Given the description of an element on the screen output the (x, y) to click on. 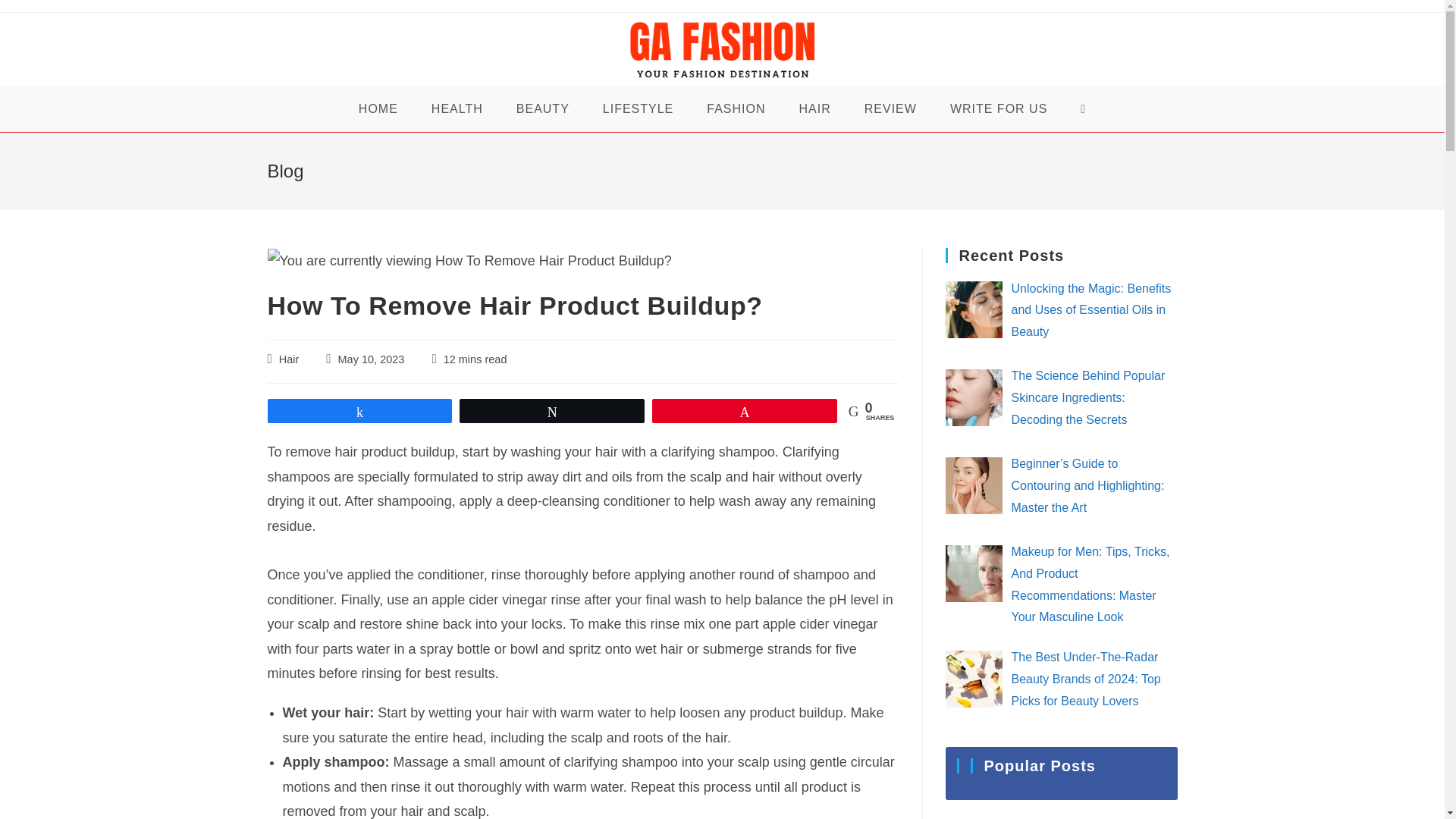
HOME (378, 108)
REVIEW (890, 108)
FASHION (735, 108)
Hair (289, 358)
WRITE FOR US (998, 108)
LIFESTYLE (638, 108)
HEALTH (456, 108)
BEAUTY (542, 108)
HAIR (815, 108)
